Given the description of an element on the screen output the (x, y) to click on. 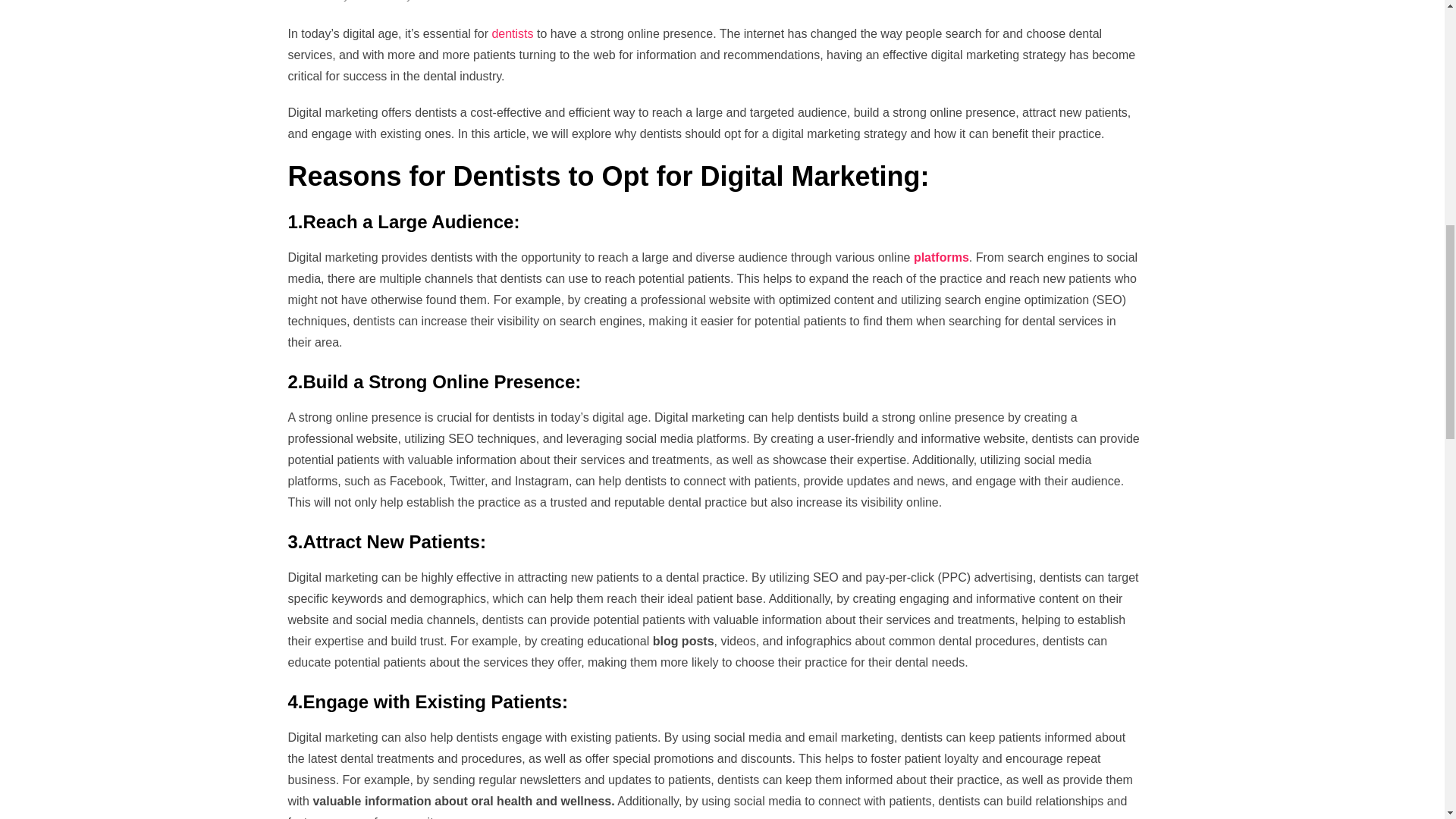
Posts by Ahmed Bouselmi (454, 0)
TOP (1410, 60)
